Given the description of an element on the screen output the (x, y) to click on. 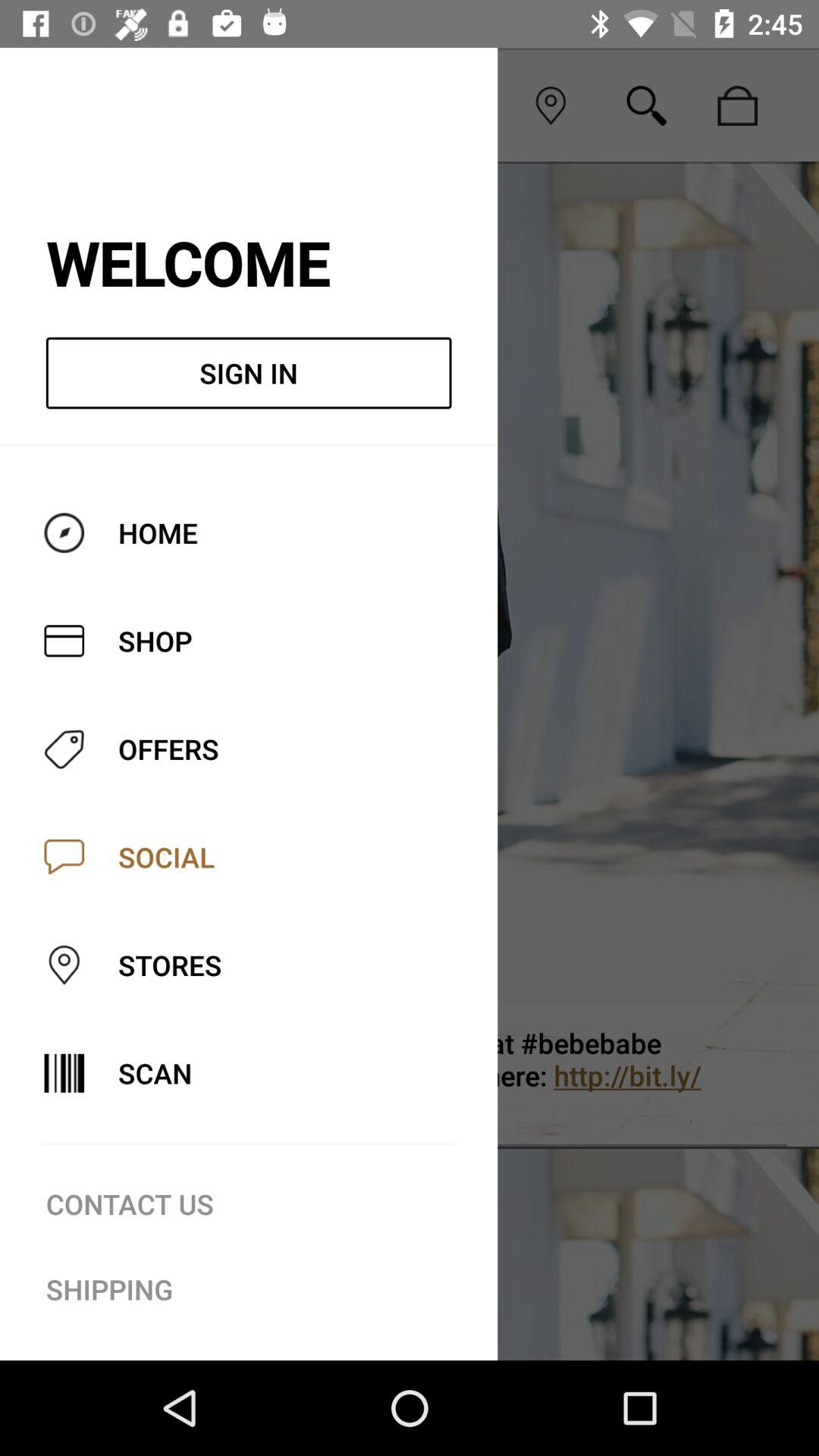
click icon to the left of the social icon (70, 105)
